Given the description of an element on the screen output the (x, y) to click on. 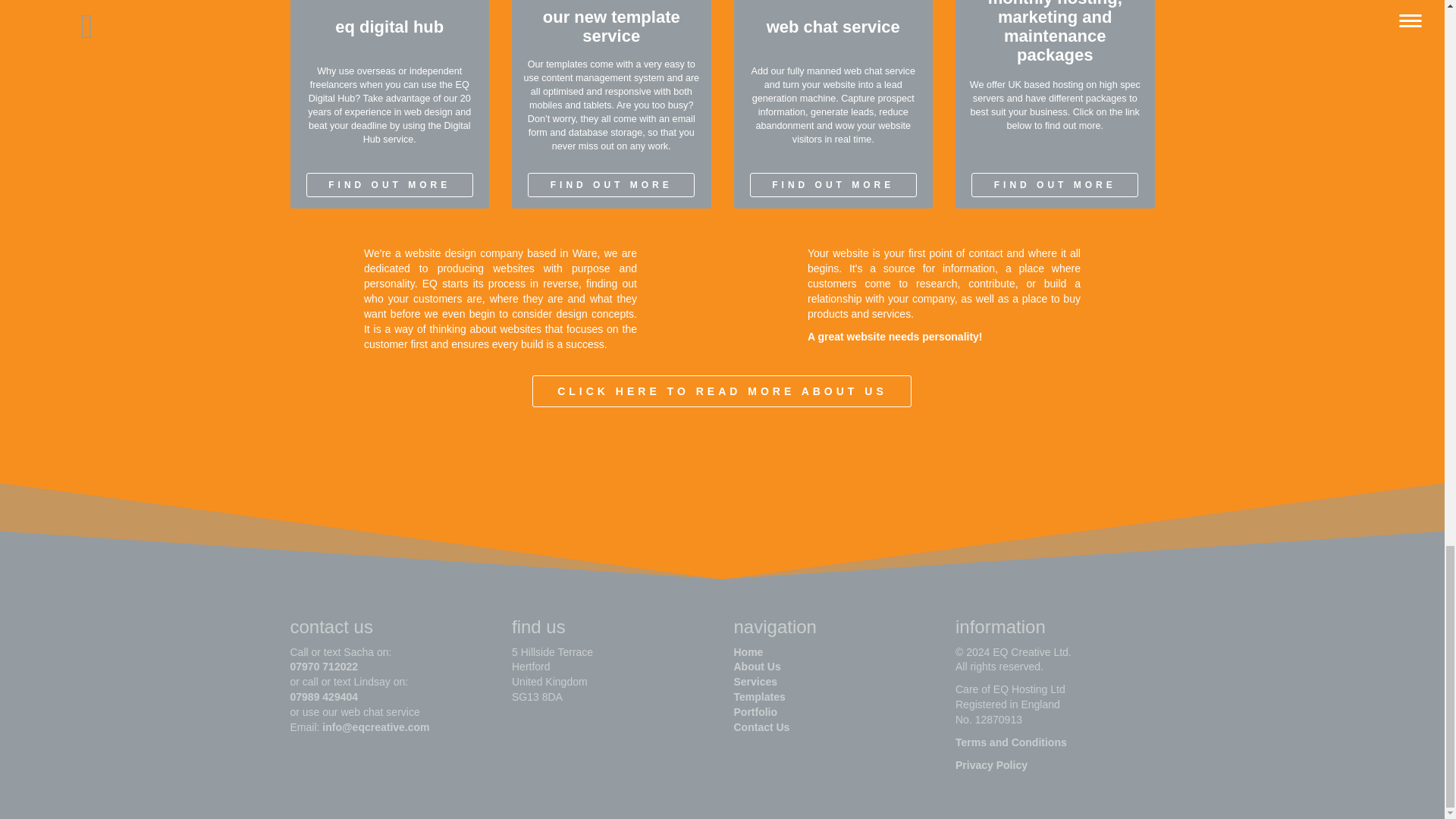
Home (747, 652)
07989 429404 (323, 696)
FIND OUT MORE (389, 184)
FIND OUT MORE (610, 184)
FIND OUT MORE (1054, 184)
07970 712022 (323, 666)
CLICK HERE TO READ MORE ABOUT US (721, 391)
FIND OUT MORE (833, 184)
